Given the description of an element on the screen output the (x, y) to click on. 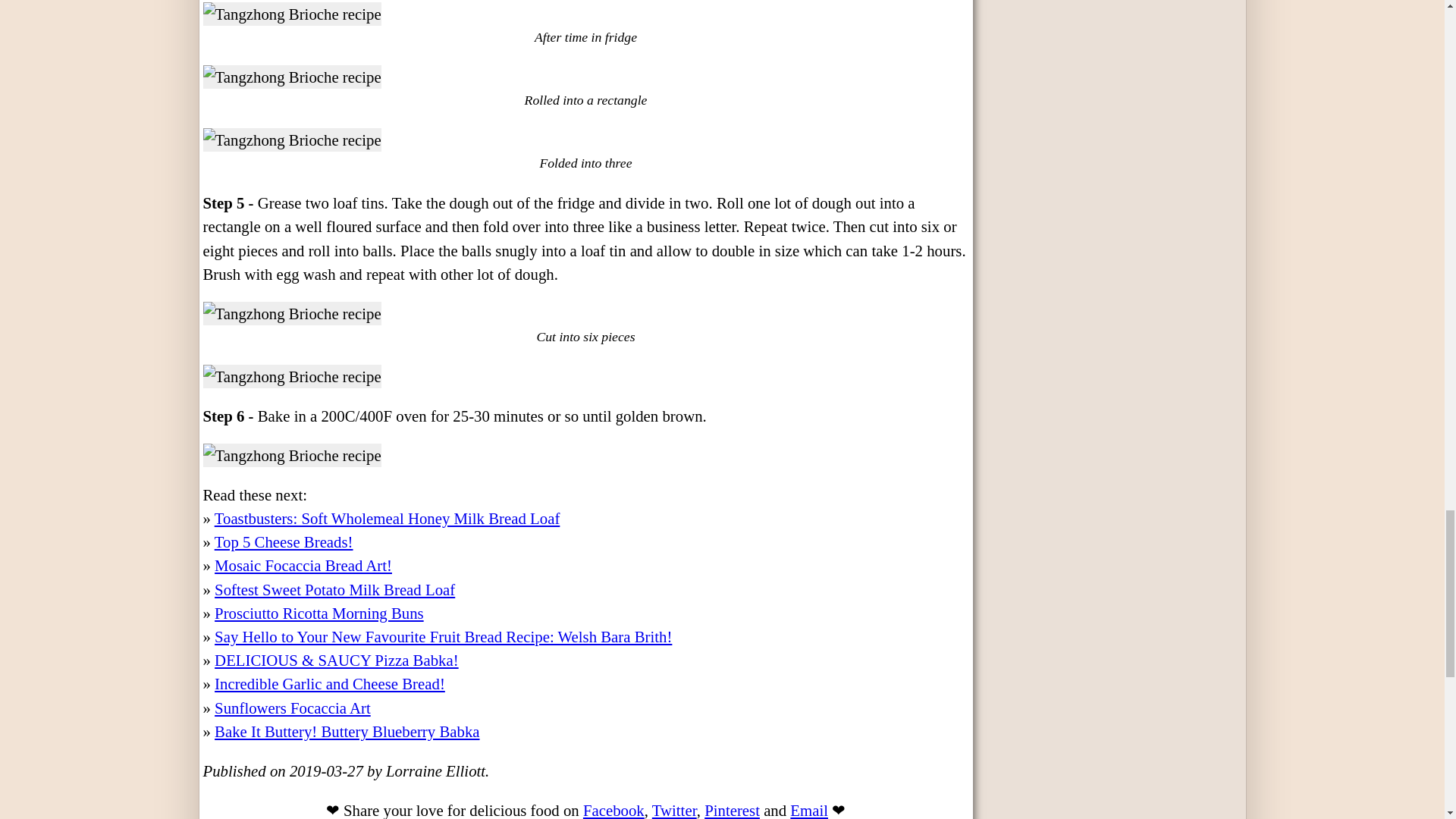
Share on Facebook (614, 810)
Sunflowers Focaccia Art (292, 707)
Twitter (674, 810)
Bake It Buttery! Buttery Blueberry Babka (346, 731)
Toastbusters: Soft Wholemeal Honey Milk Bread Loaf (387, 518)
Mosaic Focaccia Bread Art! (302, 565)
Facebook (614, 810)
Email (809, 810)
Top 5 Cheese Breads! (283, 541)
Email (809, 810)
Tweet (674, 810)
Pinterest (732, 810)
Softest Sweet Potato Milk Bread Loaf (334, 589)
Incredible Garlic and Cheese Bread! (329, 683)
